Given the description of an element on the screen output the (x, y) to click on. 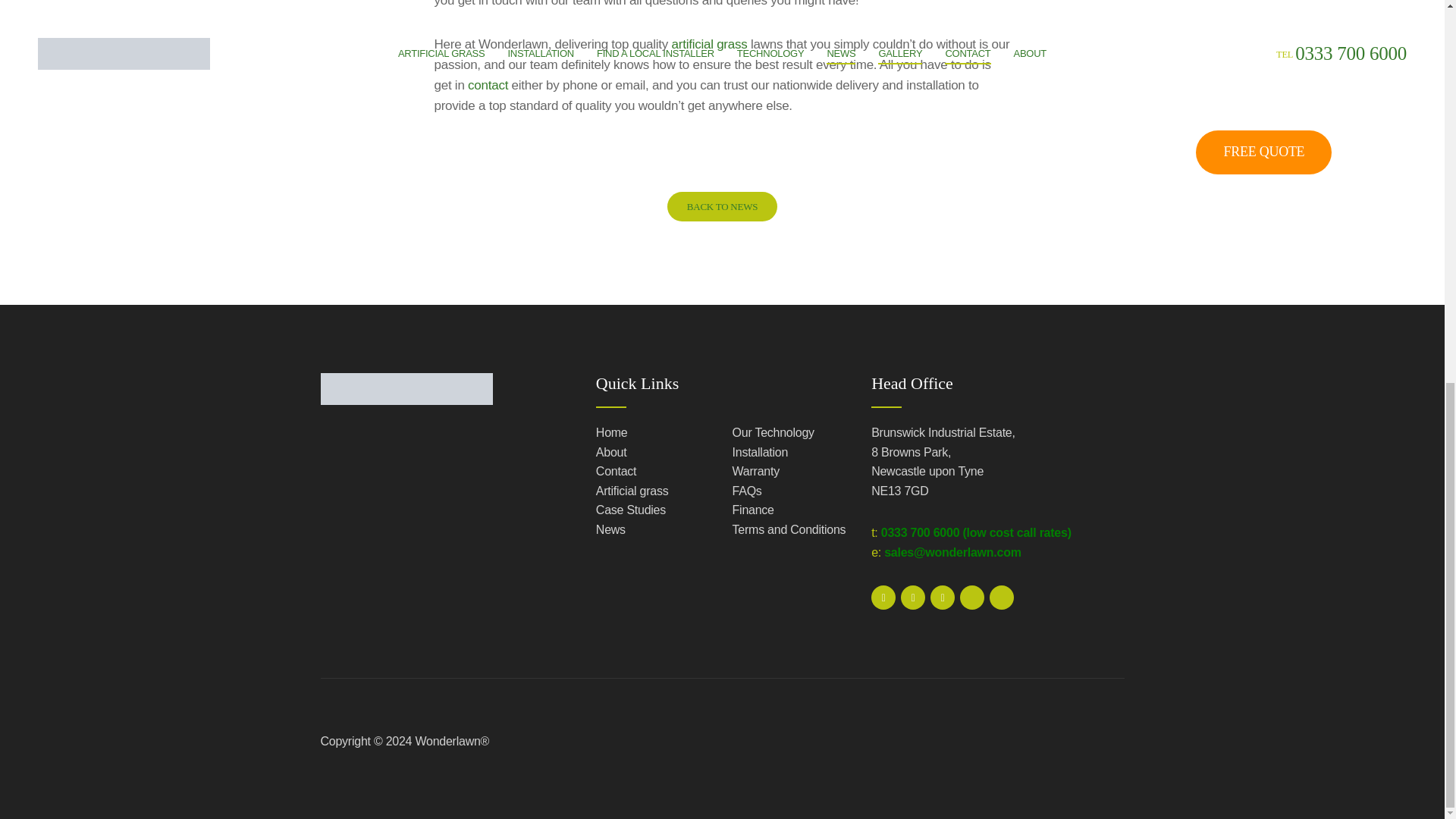
News (652, 529)
Warranty (788, 471)
Installation (788, 452)
Artificial grass (652, 491)
Terms and Conditions (788, 529)
About (652, 452)
artificial grass (709, 43)
Finance (788, 510)
Our Technology (788, 433)
Contact (652, 471)
Case Studies (652, 510)
Home (652, 433)
BACK TO NEWS (721, 206)
FAQs (788, 491)
contact (487, 84)
